Given the description of an element on the screen output the (x, y) to click on. 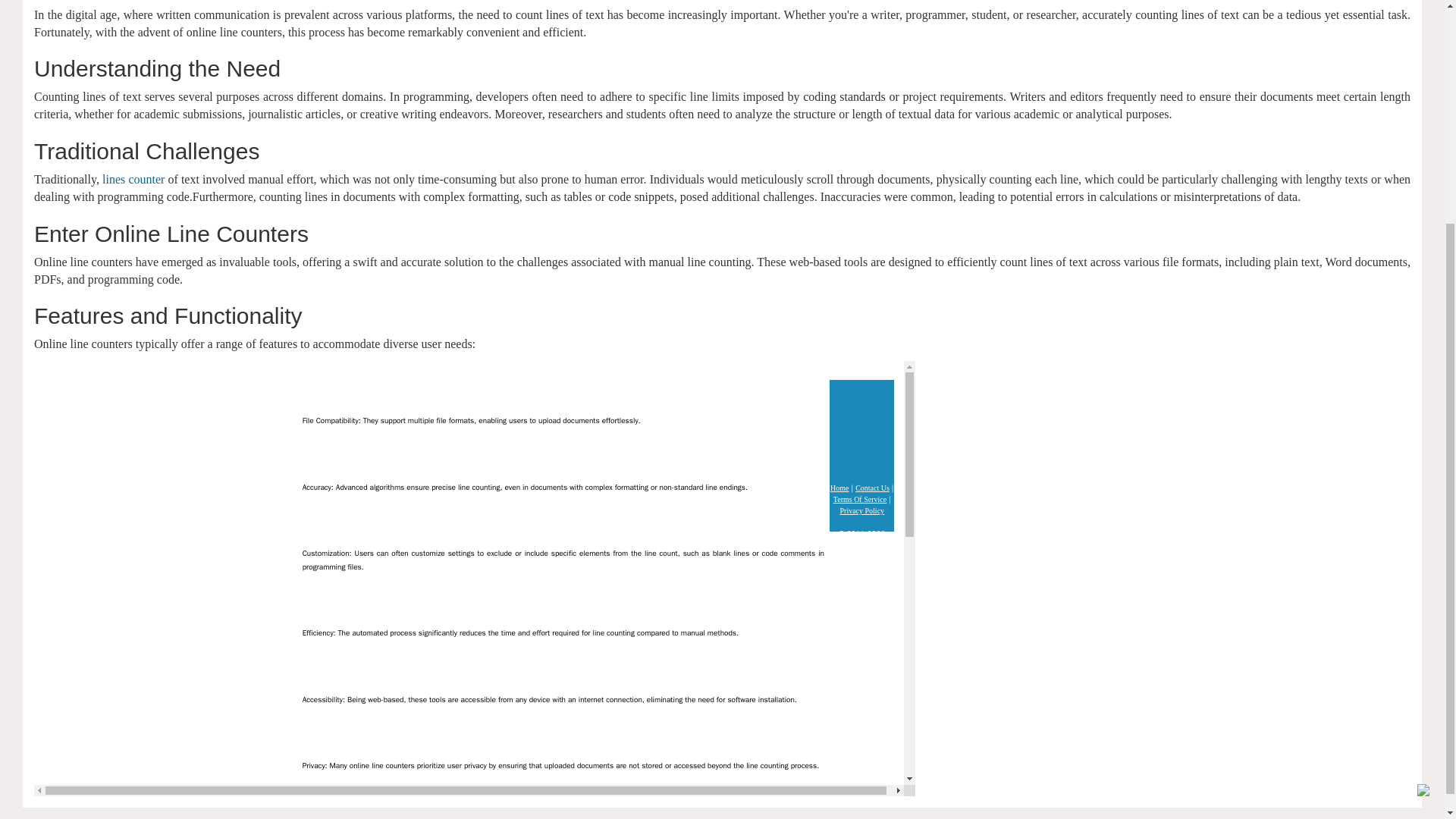
lines counter (132, 178)
Contact Us (872, 488)
Terms Of Service (859, 499)
Home (838, 488)
Privacy Policy (861, 510)
